Given the description of an element on the screen output the (x, y) to click on. 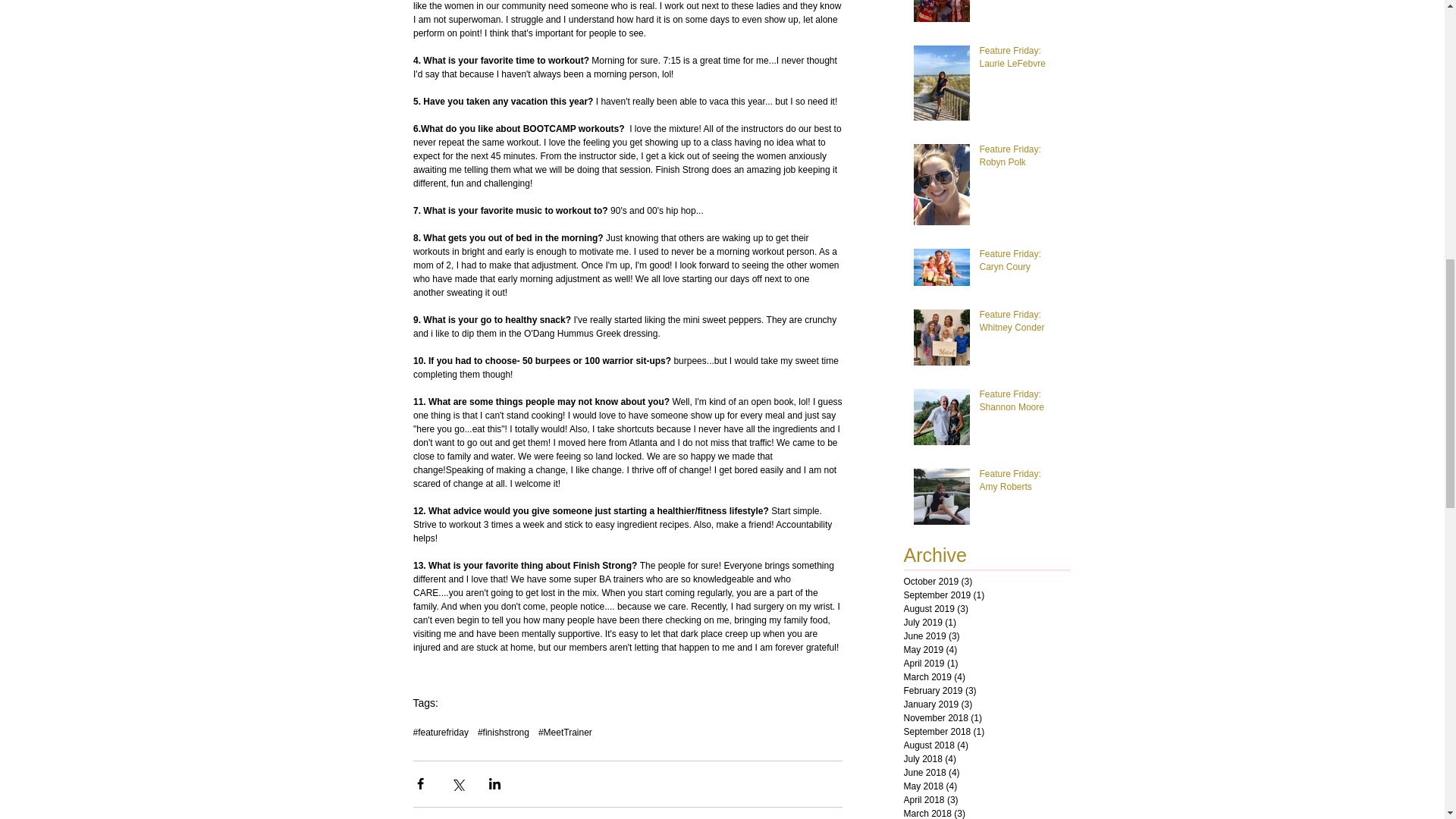
Feature Friday: Amy Roberts (1020, 483)
Feature Friday: Shannon Moore (1020, 404)
Feature Friday: Robyn Polk (1020, 159)
Feature Friday: Laurie LeFebvre (1020, 60)
Feature Friday: Whitney Conder (1020, 324)
Feature Friday: Caryn Coury (1020, 264)
